Given the description of an element on the screen output the (x, y) to click on. 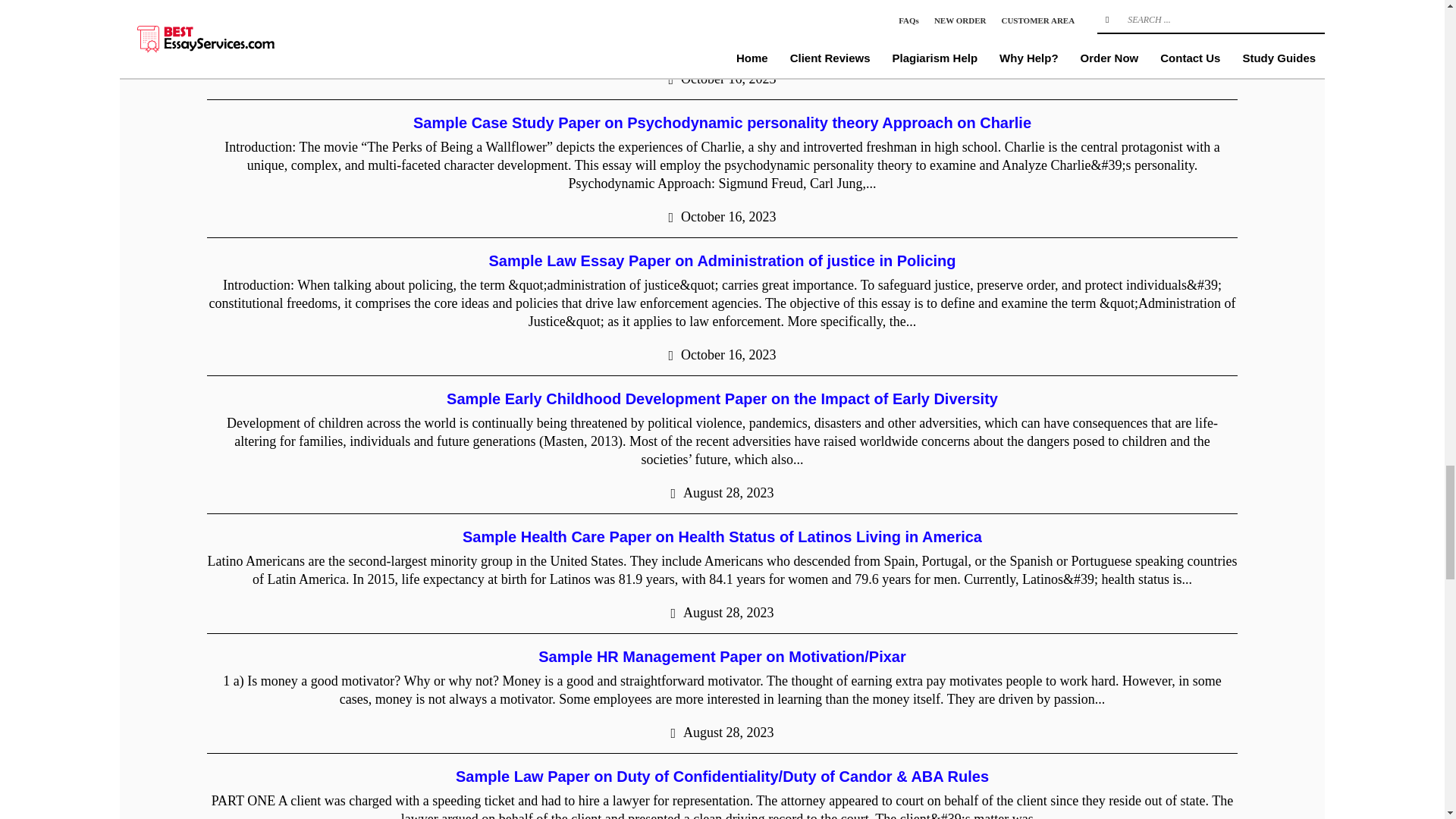
Sample Law Essay Paper on Leadership Vs. Power in Policing (720, 5)
